Given the description of an element on the screen output the (x, y) to click on. 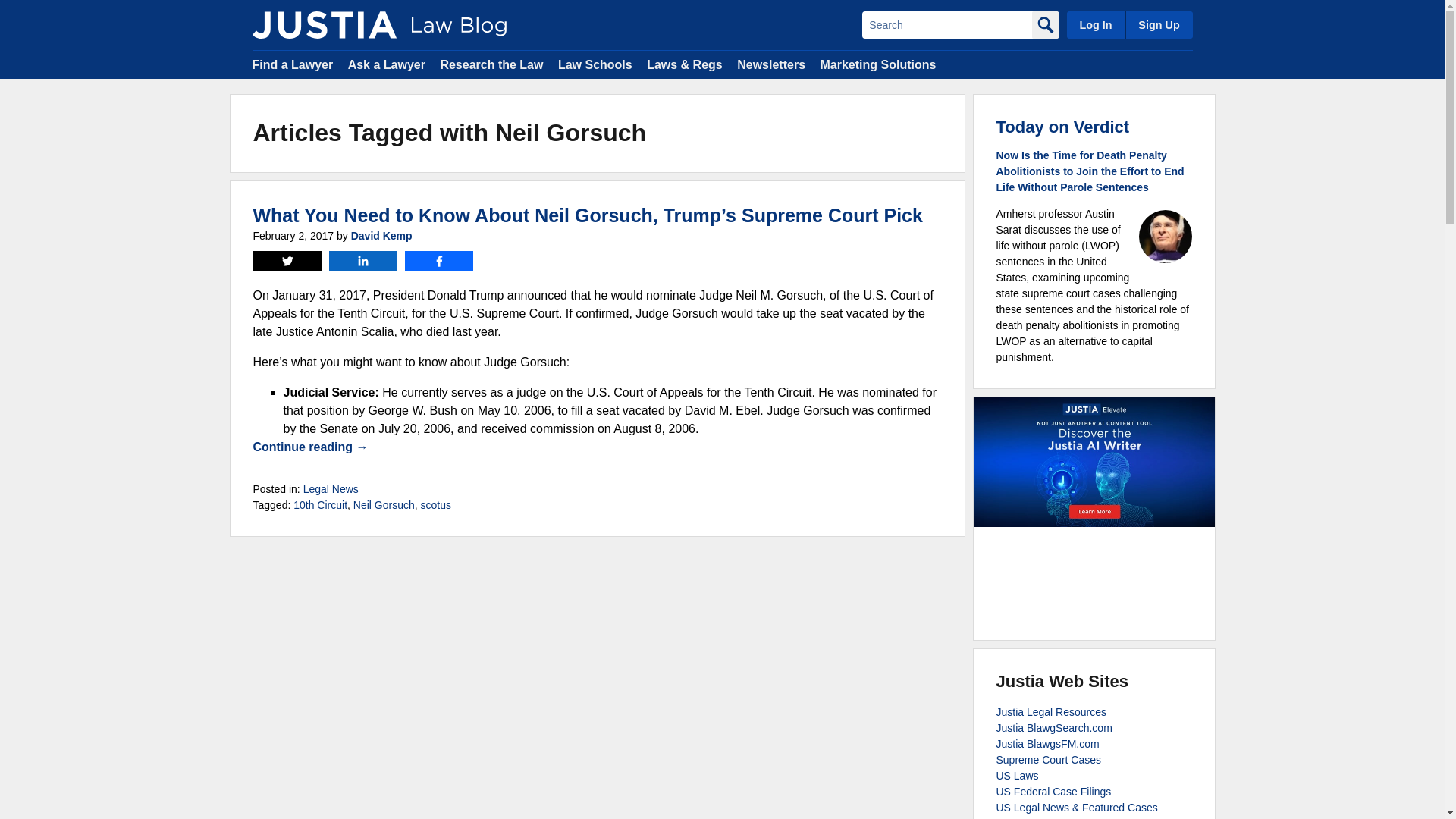
Marketing Solutions (877, 64)
Neil Gorsuch (383, 504)
Find a Lawyer (292, 64)
Newsletters (770, 64)
View all posts in Neil Gorsuch (383, 504)
10th Circuit (320, 504)
Search (945, 24)
View all posts in 10th Circuit (320, 504)
View all posts in scotus (435, 504)
